Given the description of an element on the screen output the (x, y) to click on. 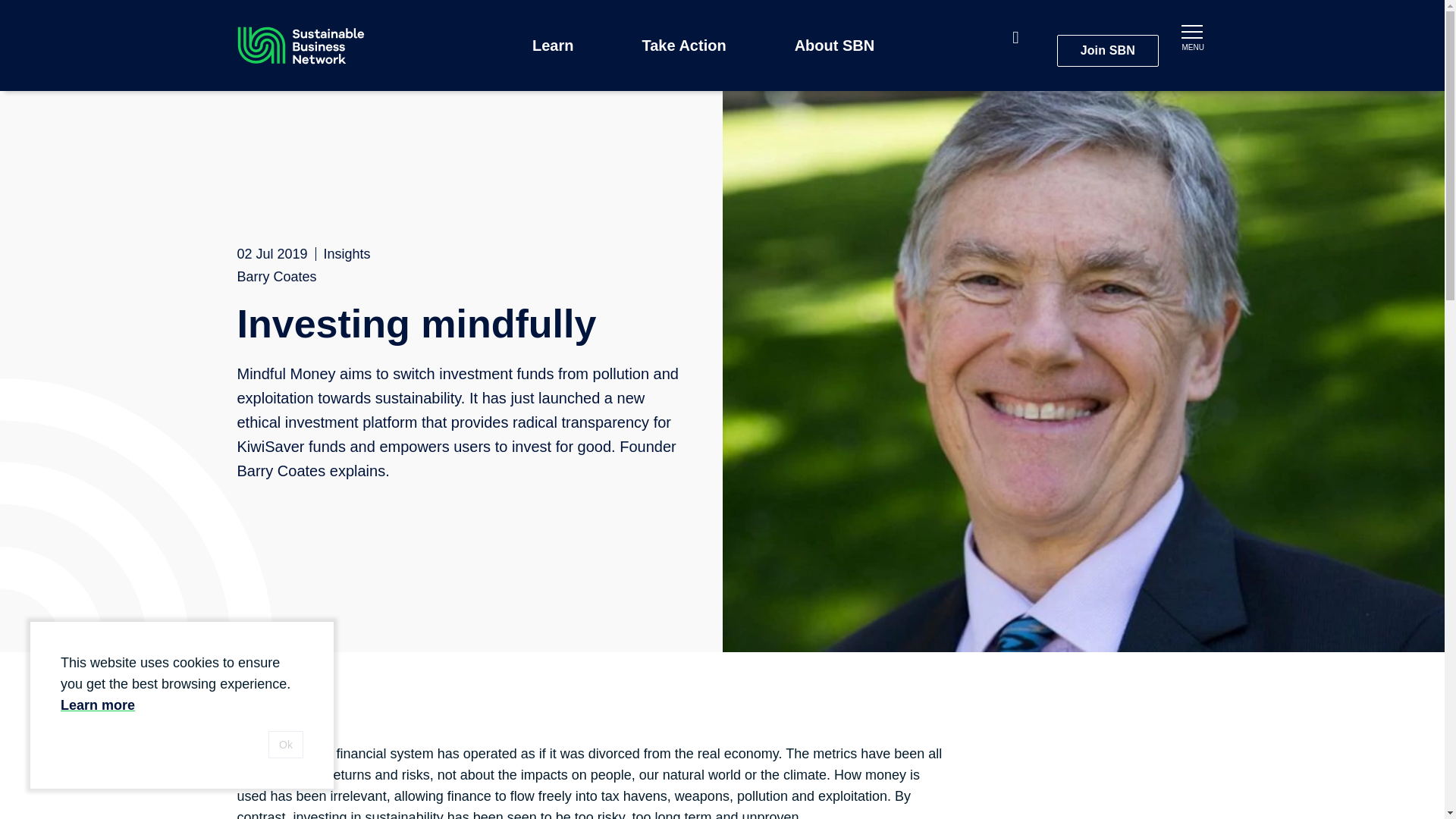
Join SBN (1107, 50)
Toggle menu (1191, 35)
Search (1022, 39)
Learn (555, 45)
MENU (1191, 35)
About SBN (838, 45)
Privacy Policy (98, 704)
Take Action (687, 45)
